Given the description of an element on the screen output the (x, y) to click on. 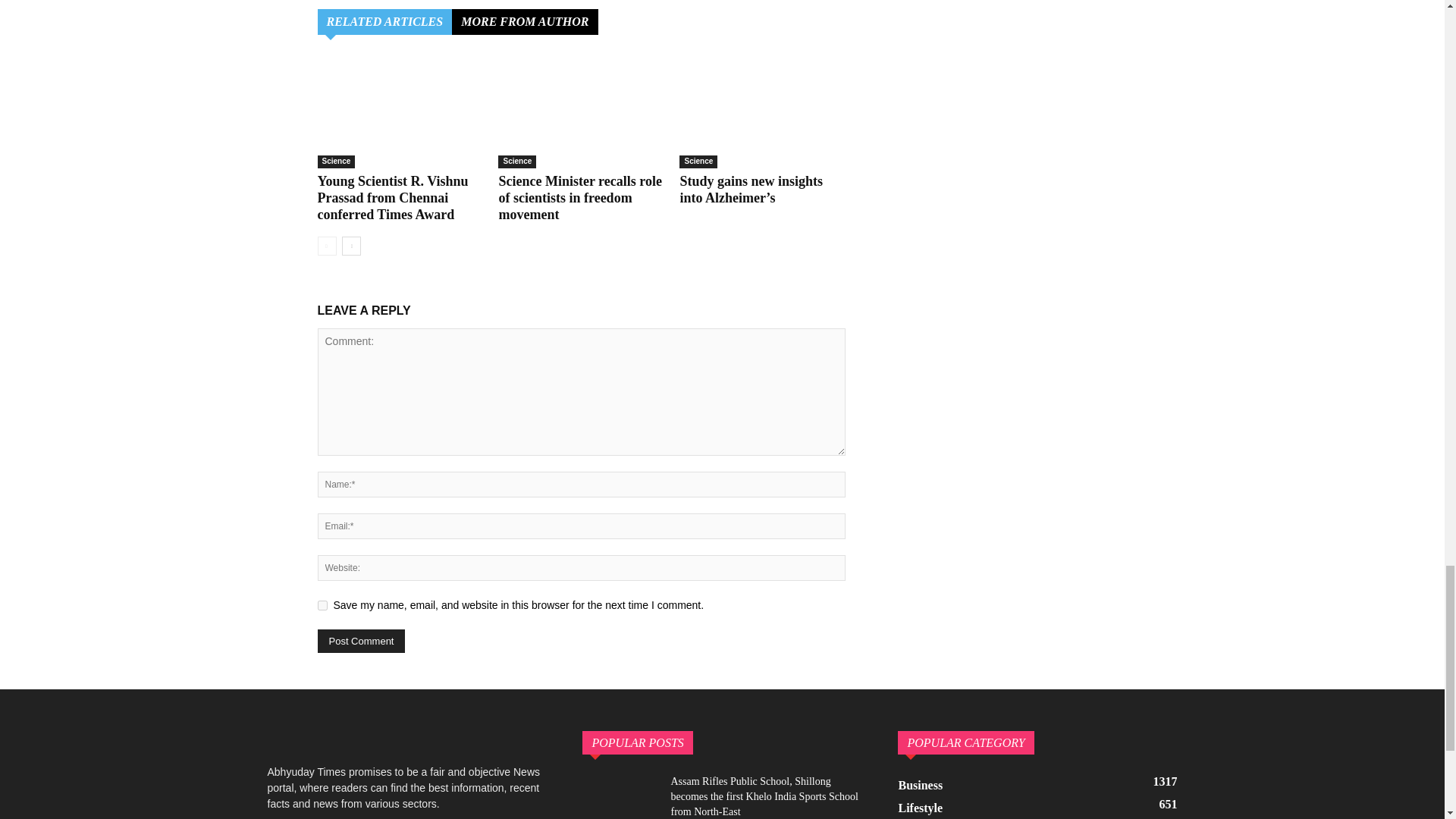
Post Comment (360, 640)
yes (321, 605)
